Given the description of an element on the screen output the (x, y) to click on. 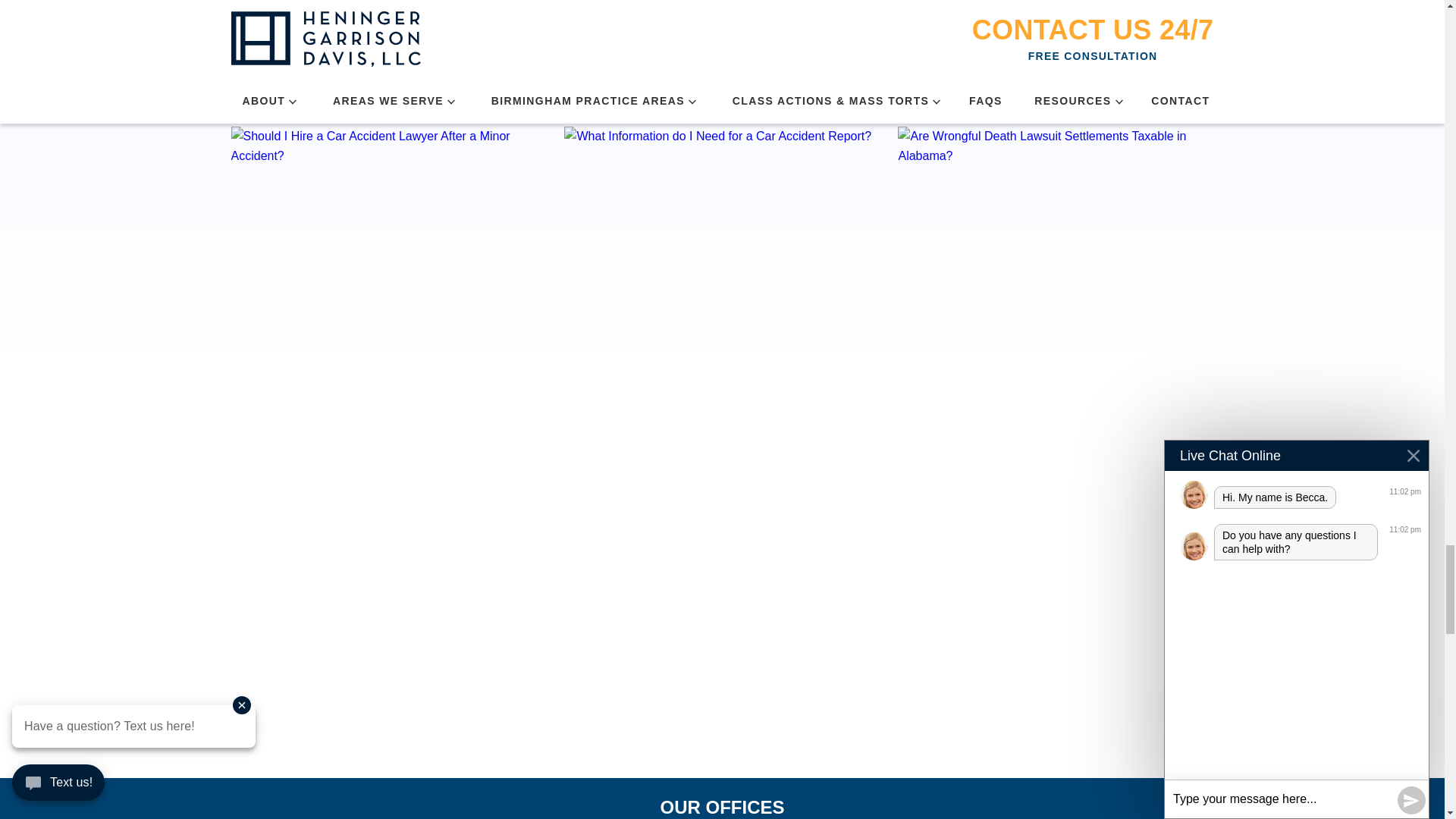
Are Wrongful Death Lawsuit Settlements Taxable in Alabama? (1055, 194)
Are Wrongful Death Lawsuit Settlements Taxable in Alabama? (1055, 221)
What Information do I Need for a Car Accident Report? (721, 221)
Should I Hire a Car Accident Lawyer After a Minor Accident? (388, 194)
Should I Hire a Car Accident Lawyer After a Minor Accident? (388, 221)
What Information do I Need for a Car Accident Report? (721, 194)
